Given the description of an element on the screen output the (x, y) to click on. 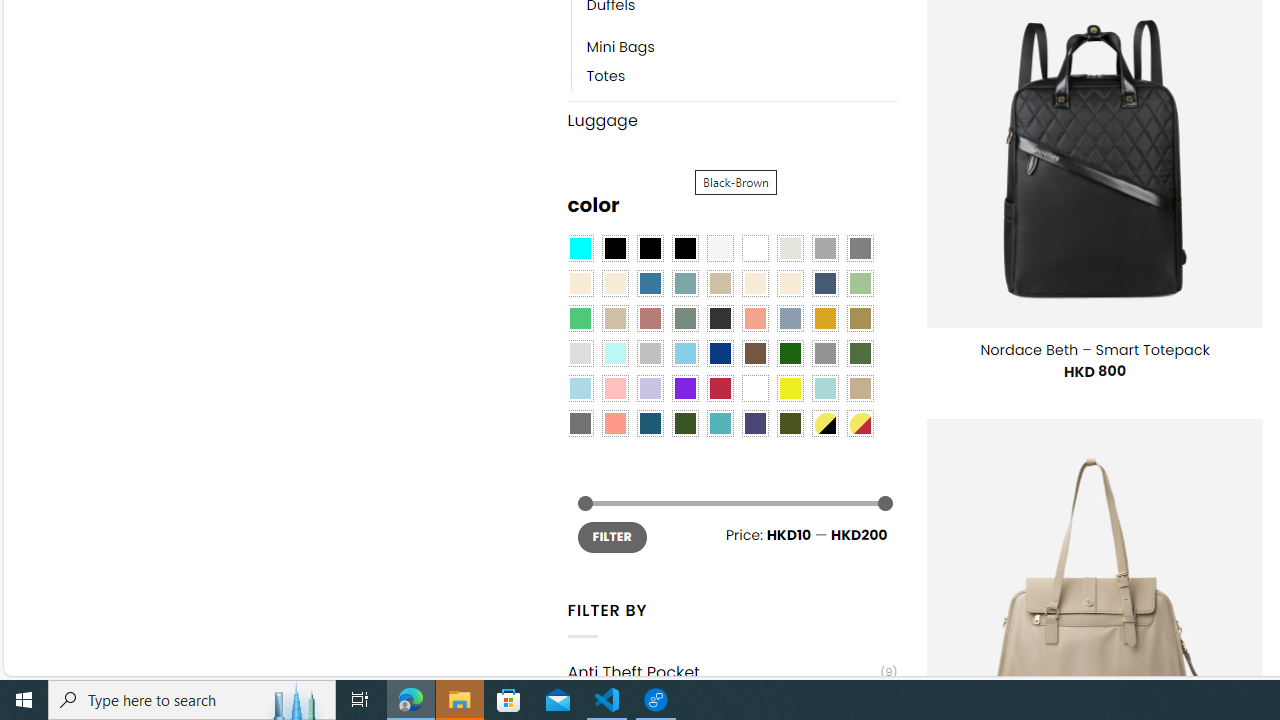
Beige (579, 283)
Green (859, 354)
Light Green (859, 283)
Army Green (789, 424)
